Given the description of an element on the screen output the (x, y) to click on. 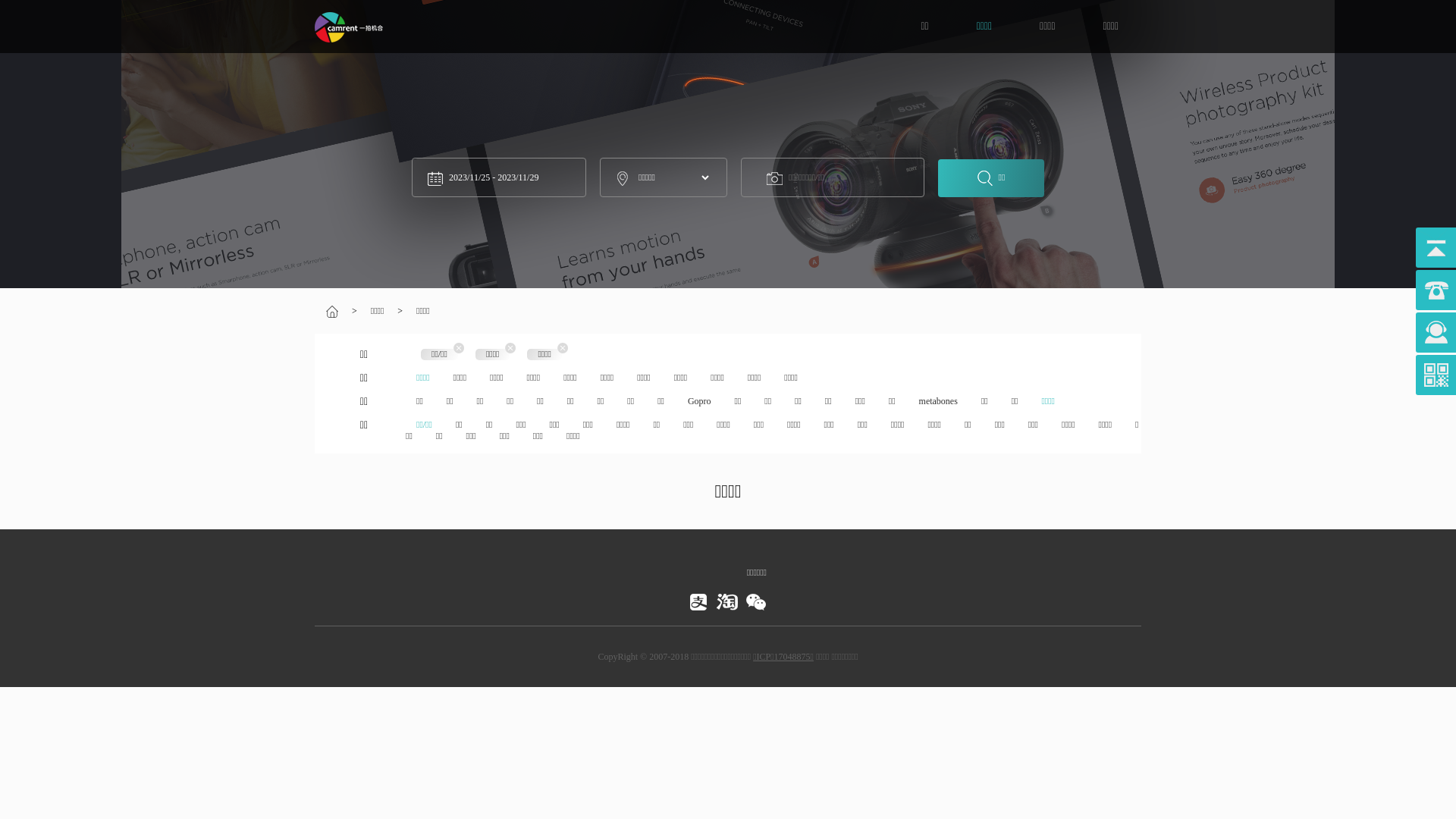
   Element type: text (729, 598)
metabones Element type: text (938, 400)
Gopro Element type: text (699, 400)
   Element type: text (701, 598)
